Given the description of an element on the screen output the (x, y) to click on. 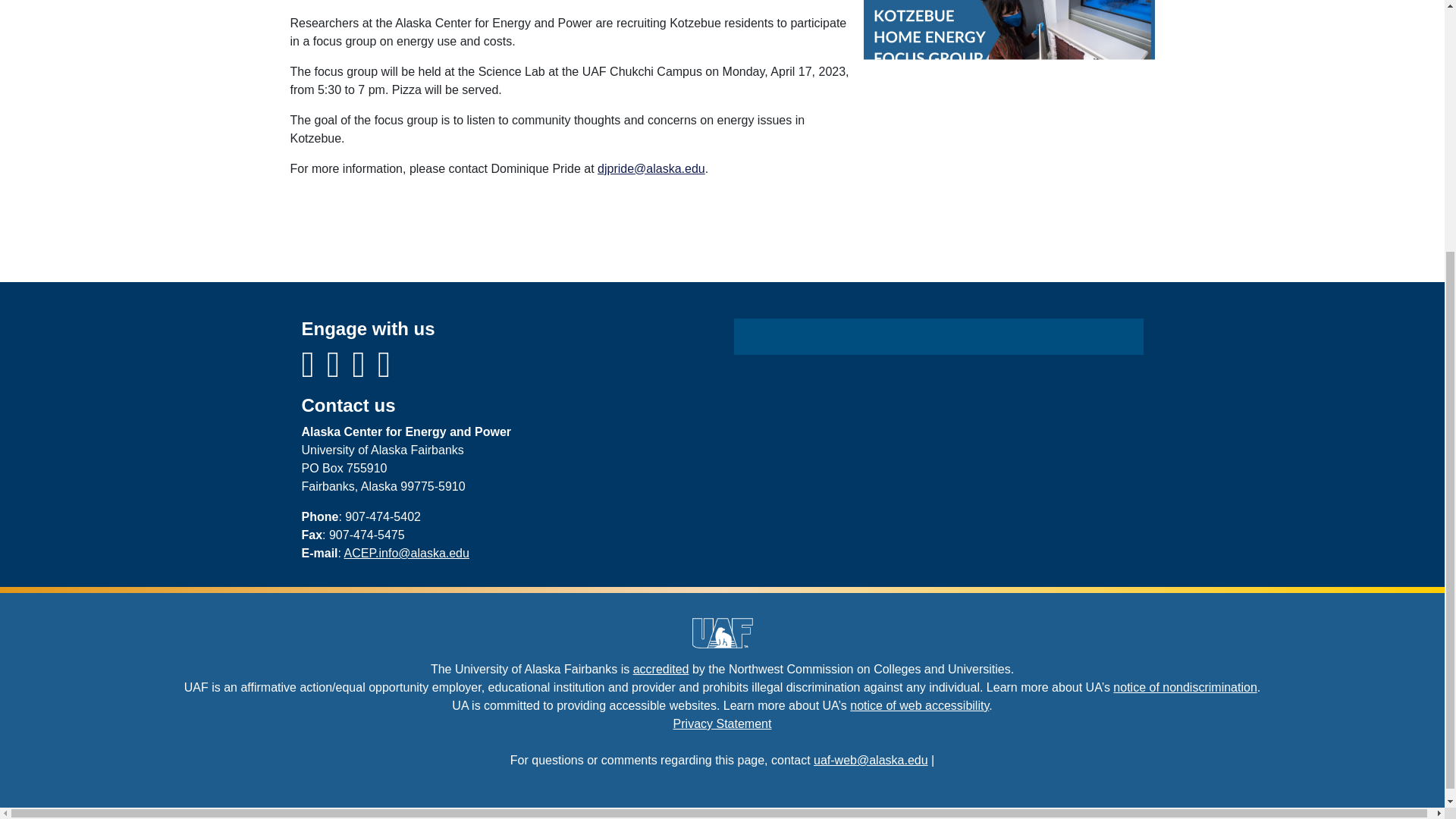
ACEP Facebook (314, 372)
ACEP YouTube (339, 372)
ACEP LinkedIn (384, 372)
ACEP Flickr (365, 372)
